Given the description of an element on the screen output the (x, y) to click on. 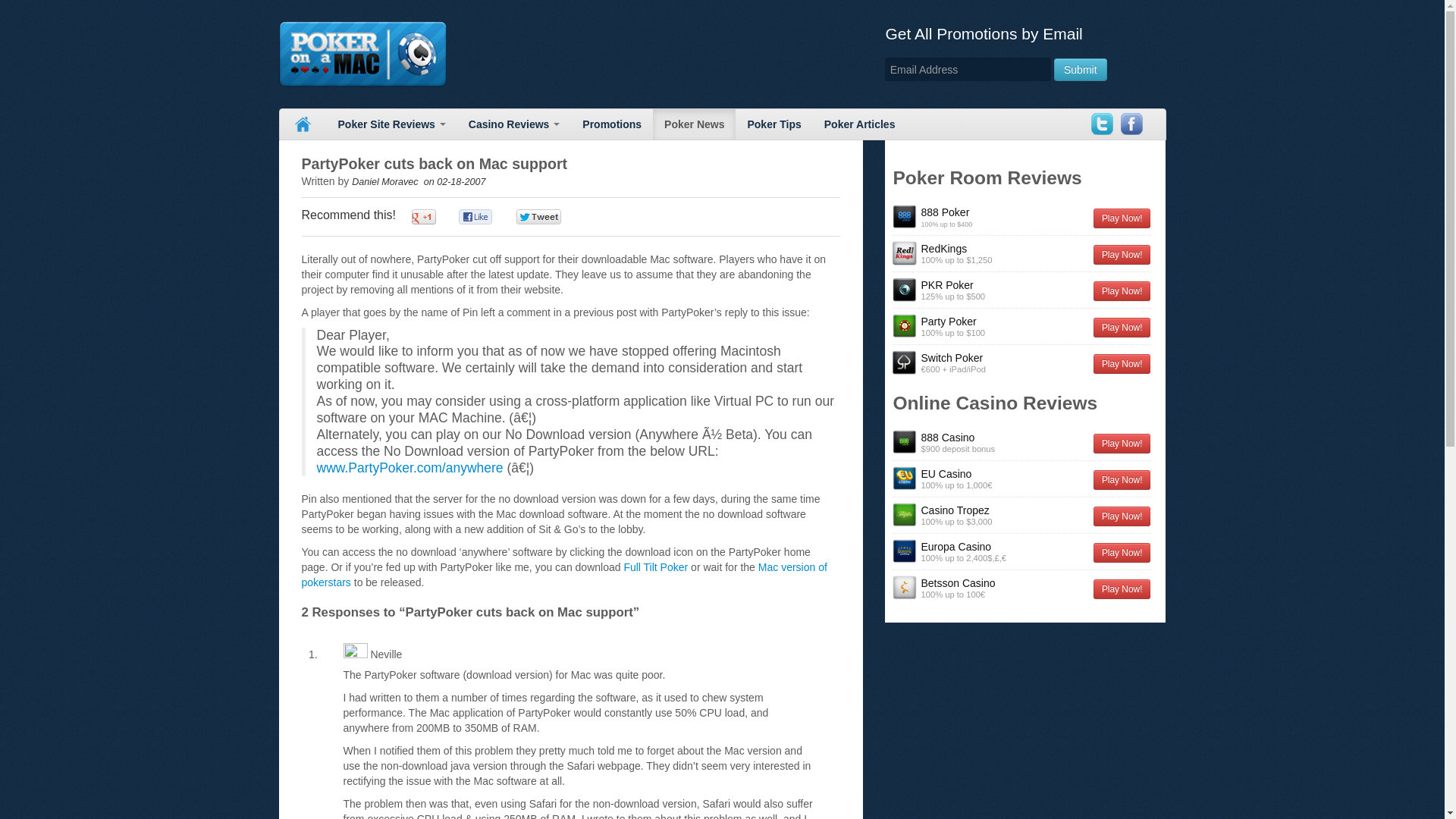
PKR Poker (946, 285)
Play Now! (1122, 218)
Poker Tips (773, 123)
Be the first one to tweet this article! (554, 217)
Follow MacPoker (1101, 124)
Casino Reviews (514, 123)
Facebook Fan Page (1131, 124)
Full Tilt Poker (655, 567)
Poker Articles (859, 123)
Poker News (693, 123)
Play Now! (1122, 254)
Poker Tips (773, 123)
888 Poker (904, 216)
888 Poker (944, 212)
